Given the description of an element on the screen output the (x, y) to click on. 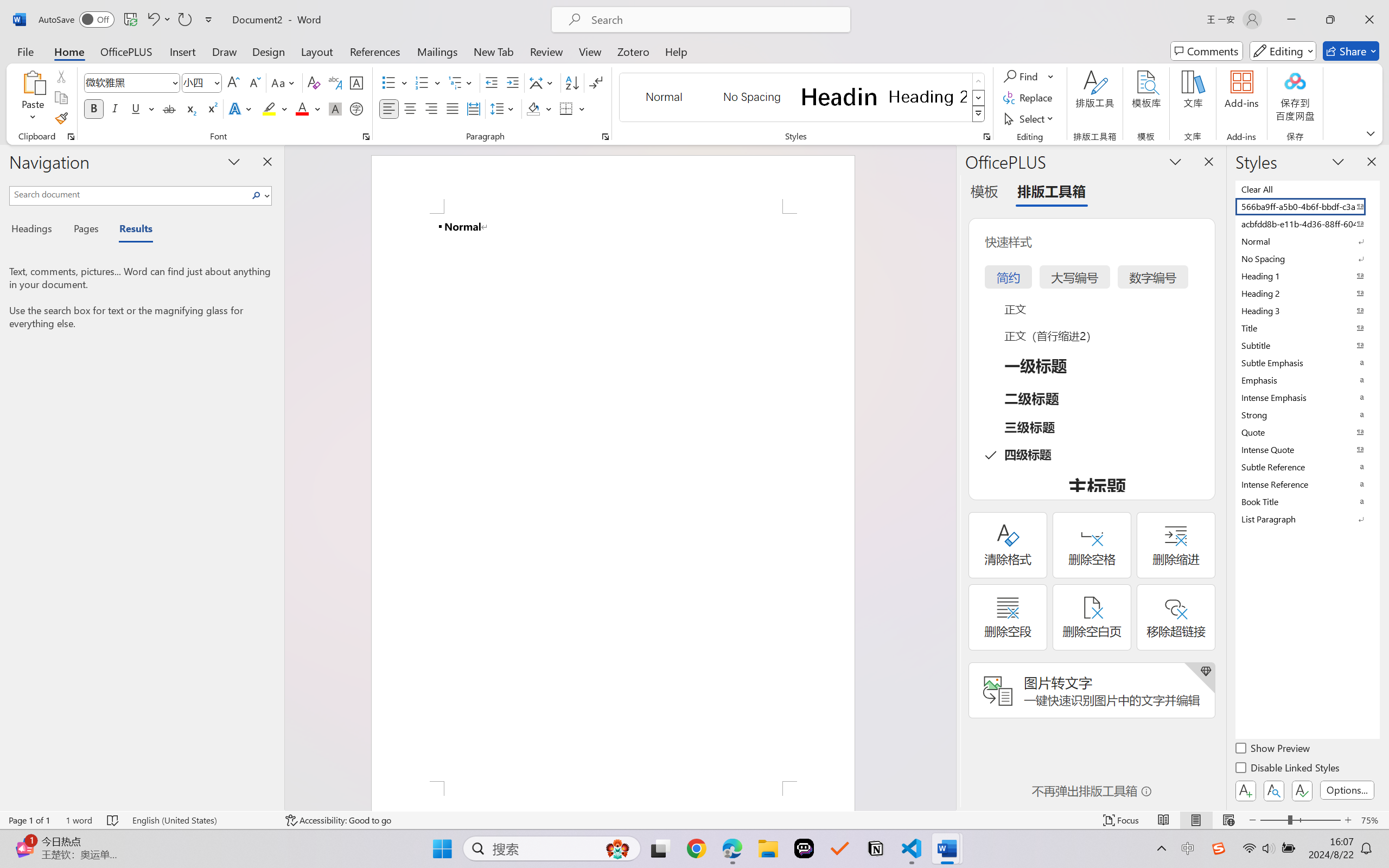
No Spacing (1306, 258)
Font... (365, 136)
Open (215, 82)
Task Pane Options (1175, 161)
Share (1350, 51)
Character Border (356, 82)
Cut (60, 75)
Search (256, 195)
Subscript (190, 108)
Comments (1206, 50)
Paragraph... (605, 136)
Heading 3 (1306, 310)
Title (1306, 327)
Zotero (632, 51)
Align Right (431, 108)
